Given the description of an element on the screen output the (x, y) to click on. 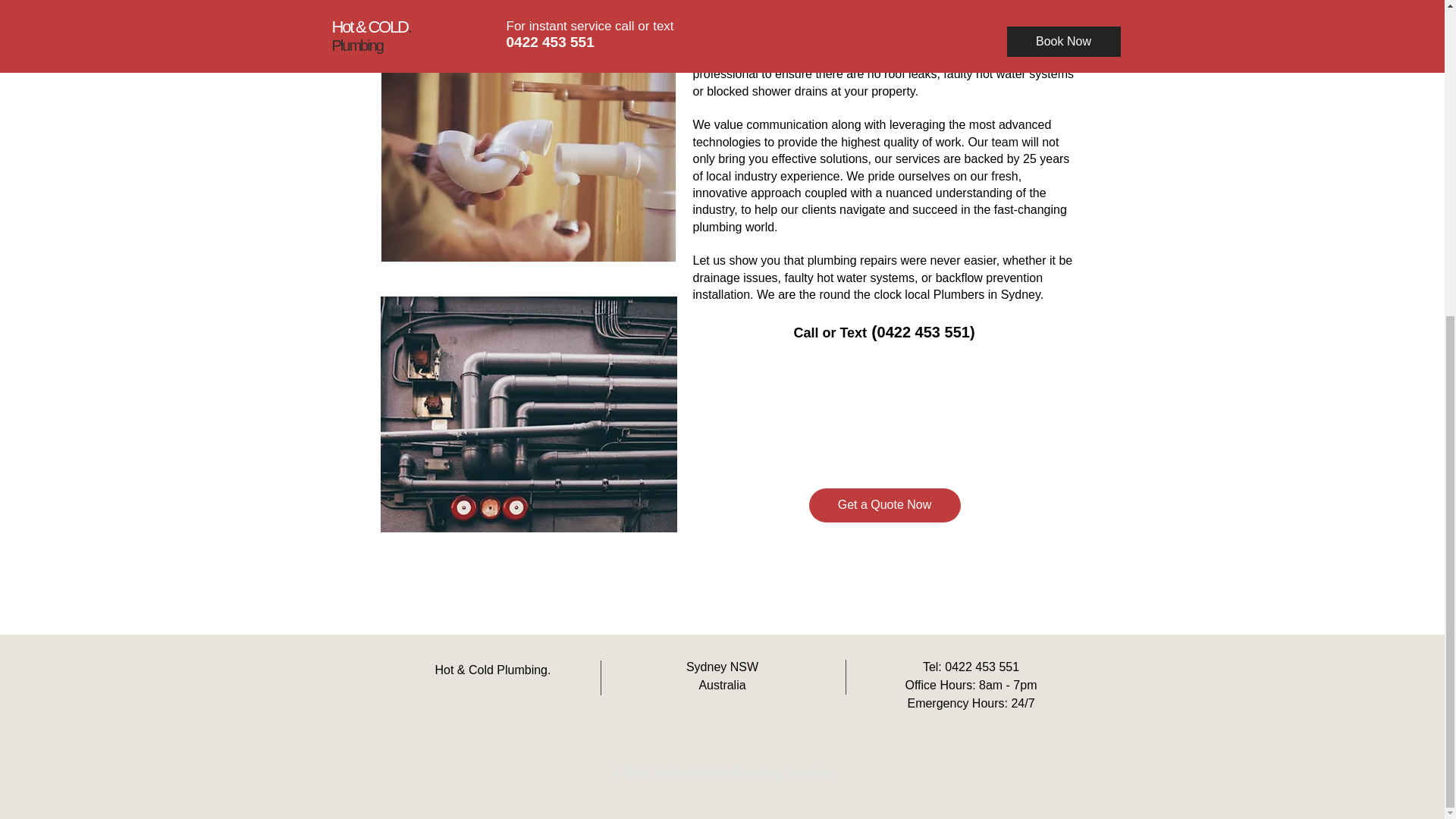
Get a Quote Now (883, 505)
